Given the description of an element on the screen output the (x, y) to click on. 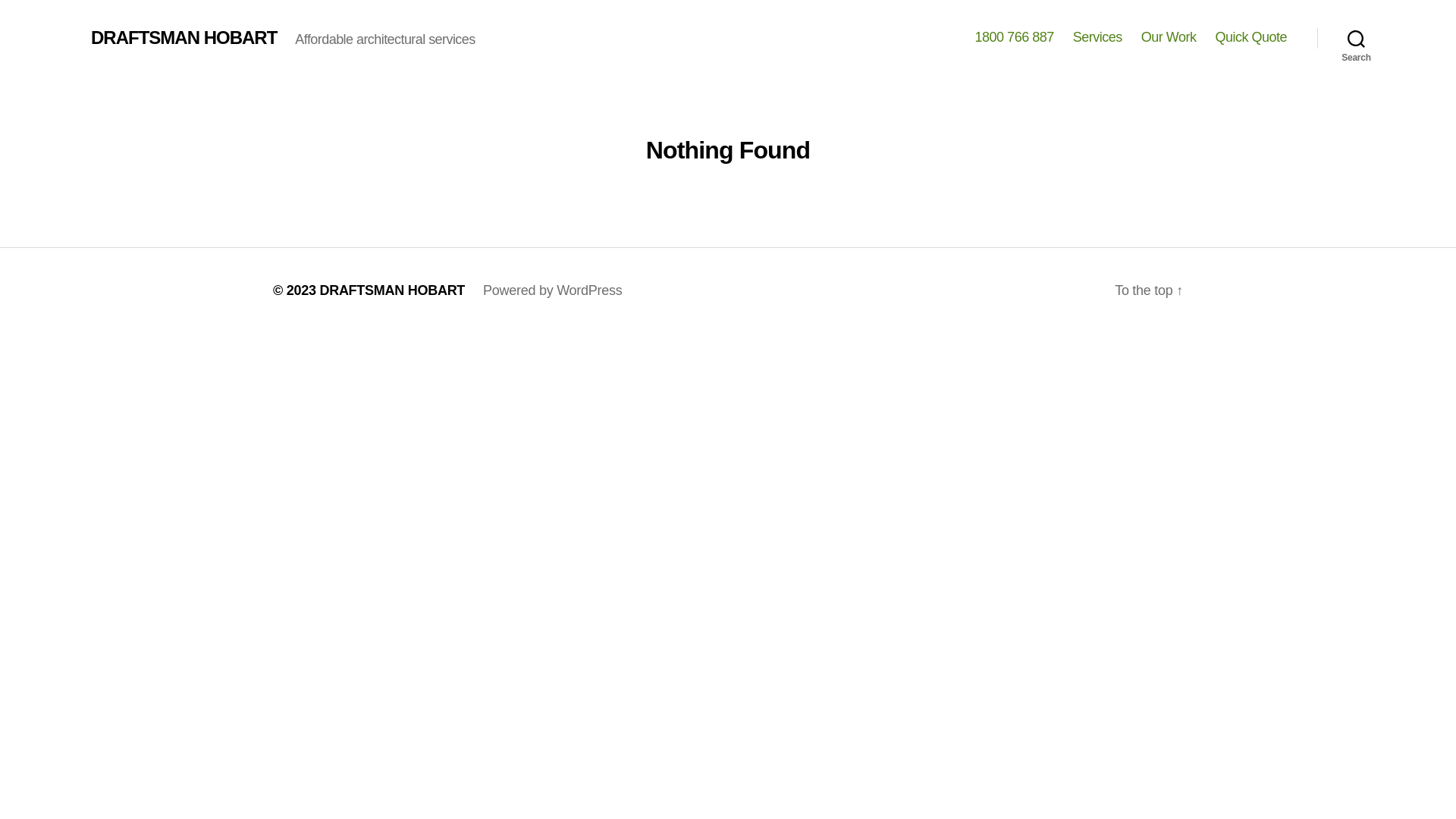
1800 766 887 Element type: text (1014, 37)
Quick Quote Element type: text (1250, 37)
Search Element type: text (1356, 37)
DRAFTSMAN HOBART Element type: text (183, 37)
Powered by WordPress Element type: text (552, 290)
Services Element type: text (1097, 37)
DRAFTSMAN HOBART Element type: text (391, 290)
Our Work Element type: text (1168, 37)
